Given the description of an element on the screen output the (x, y) to click on. 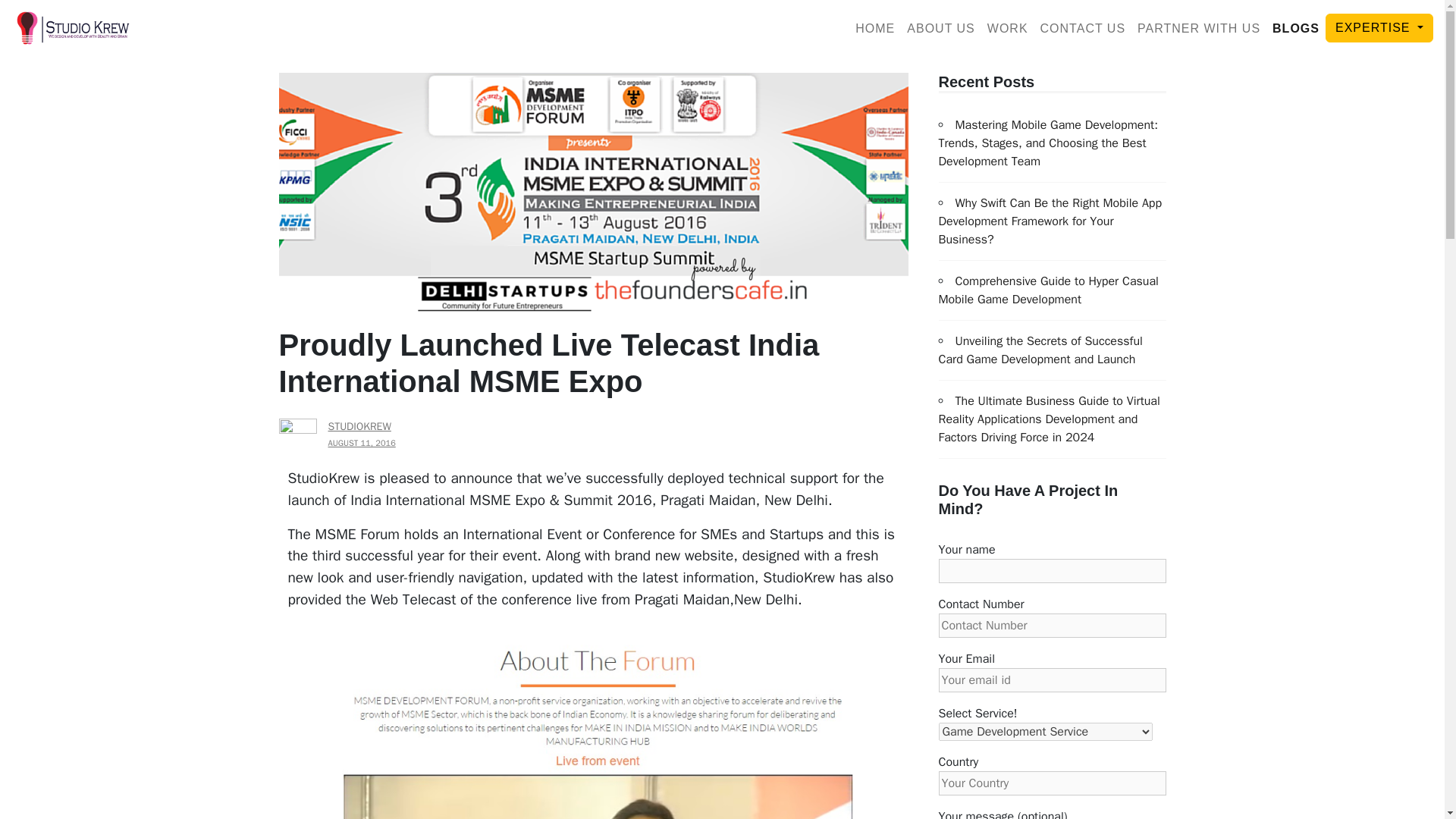
BLOGS (1295, 28)
Comprehensive Guide to Hyper Casual Mobile Game Development (1048, 290)
AUGUST 11, 2016 (360, 442)
EXPERTISE (1378, 27)
PARTNER WITH US (1198, 28)
WORK (1007, 28)
ABOUT US (941, 28)
CONTACT US (1082, 28)
STUDIOKREW (358, 426)
HOME (874, 28)
